Given the description of an element on the screen output the (x, y) to click on. 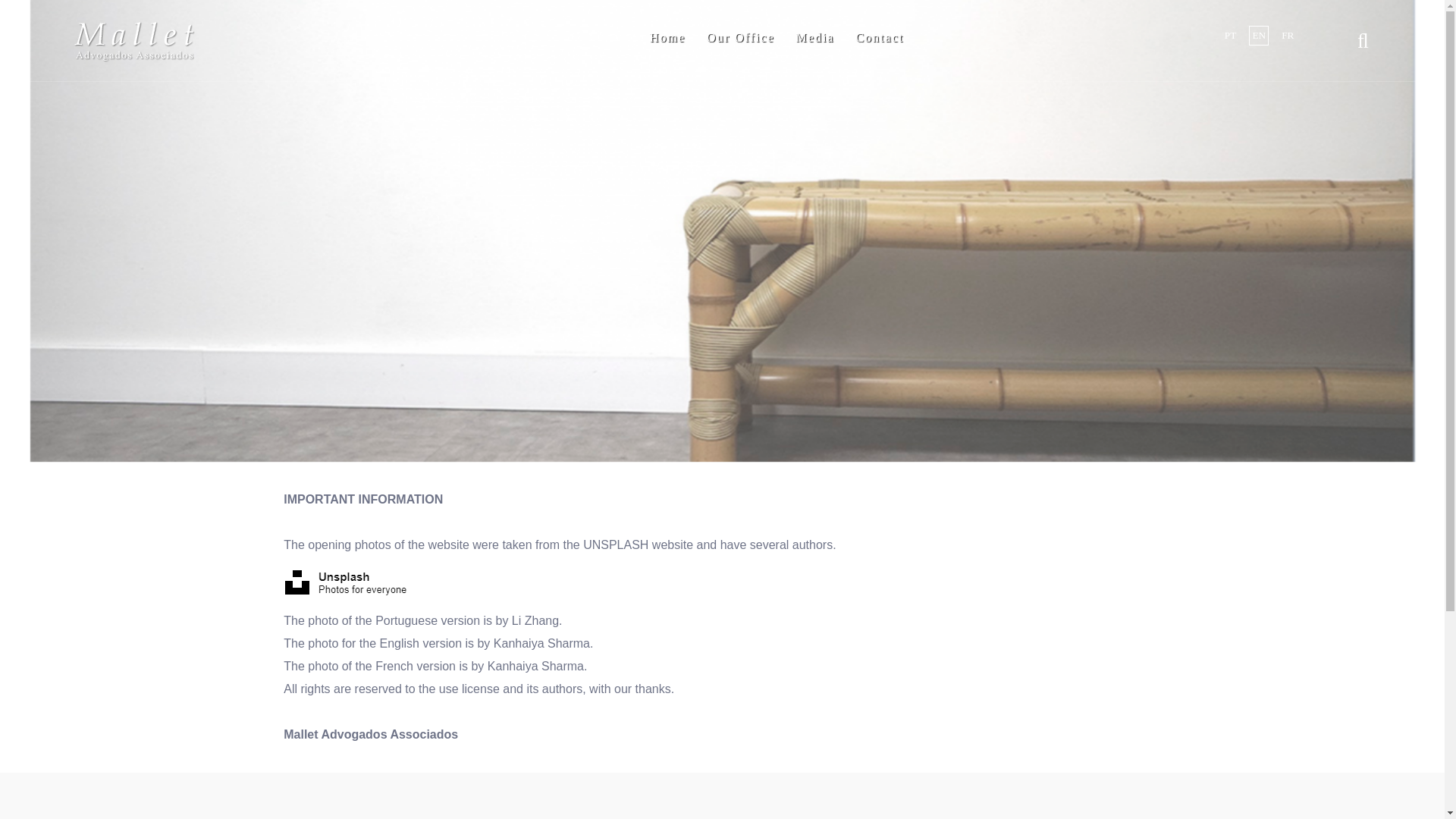
FR (1287, 35)
Contact (879, 37)
Media (815, 37)
Home (667, 37)
EN (1258, 35)
Our Office (739, 37)
PT (1231, 35)
